Given the description of an element on the screen output the (x, y) to click on. 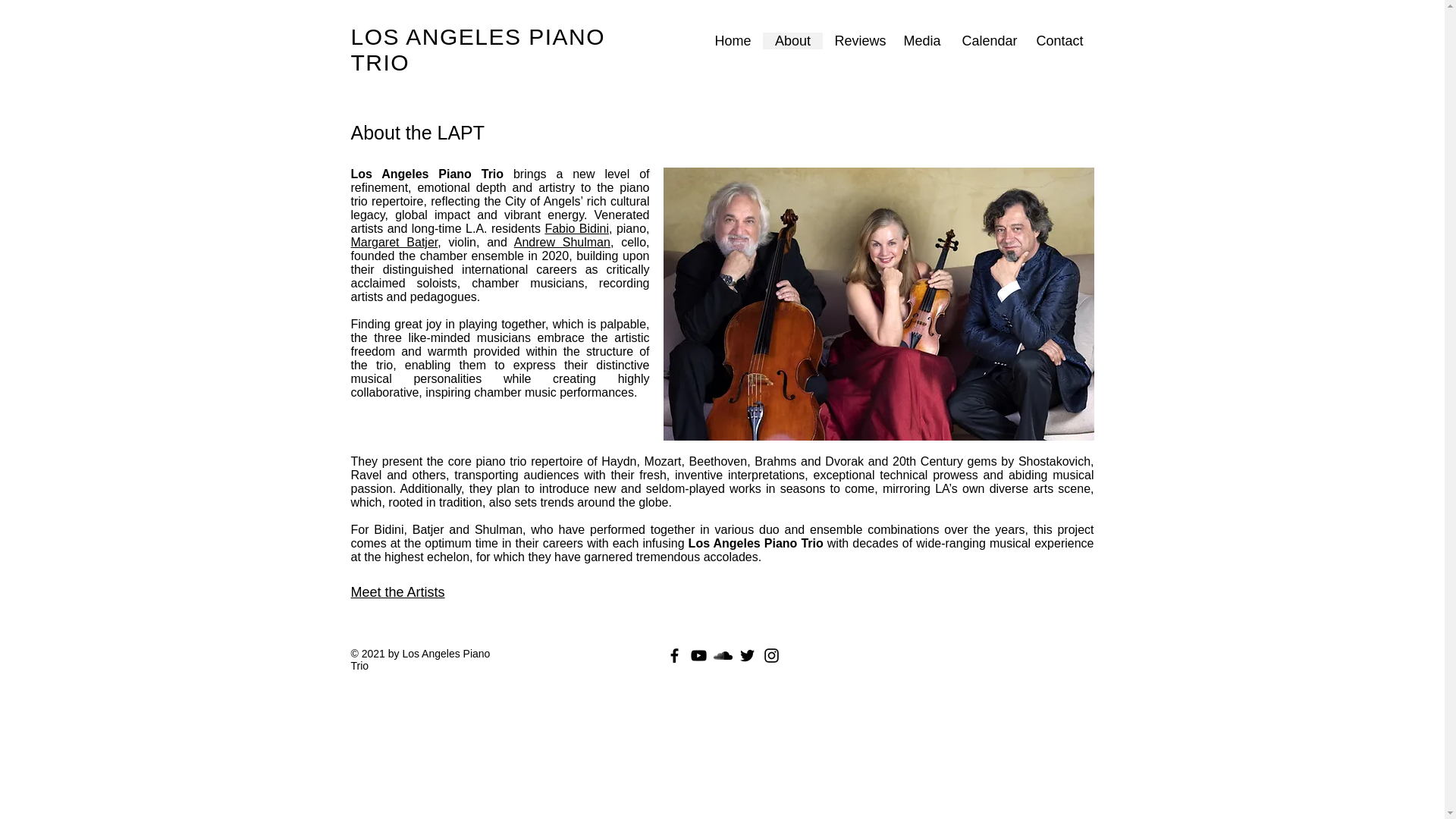
About (792, 40)
Margaret Batjer (394, 241)
Fabio Bidini (576, 228)
Andrew Shulman (561, 241)
Media (920, 40)
Calendar (986, 40)
Meet the Artists (397, 591)
Reviews (856, 40)
Home (732, 40)
Contact (1058, 40)
